Given the description of an element on the screen output the (x, y) to click on. 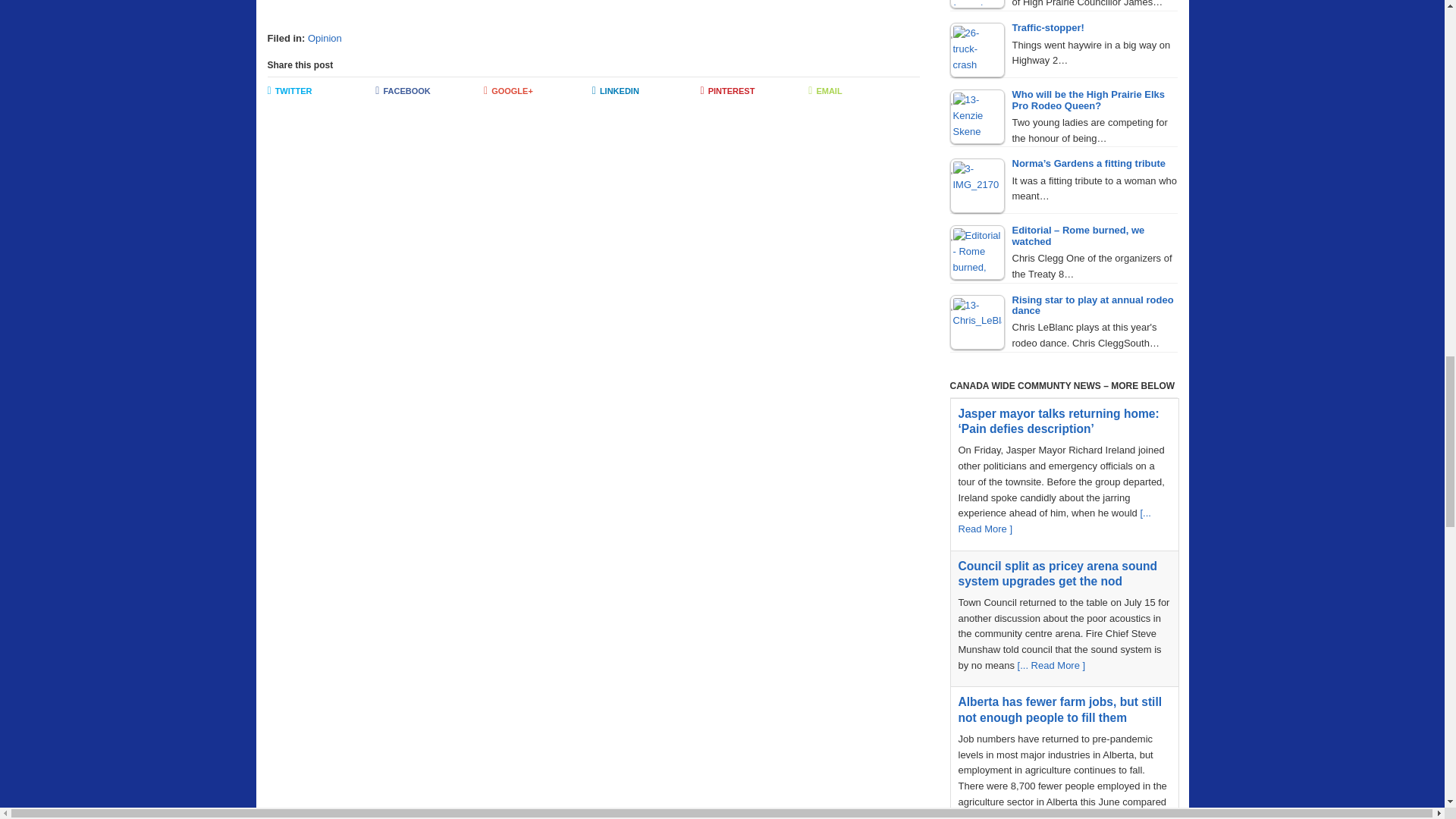
LINKEDIN (646, 91)
Who will be the High Prairie Elks Pro Rodeo Queen? (976, 116)
Opinion (324, 38)
EMAIL (862, 91)
FACEBOOK (429, 91)
Editorial - Rome burned, we watched (976, 252)
Rising star to play at annual rodeo dance (976, 321)
TWITTER (320, 91)
Traffic-stopper! (976, 49)
PINTEREST (754, 91)
